Given the description of an element on the screen output the (x, y) to click on. 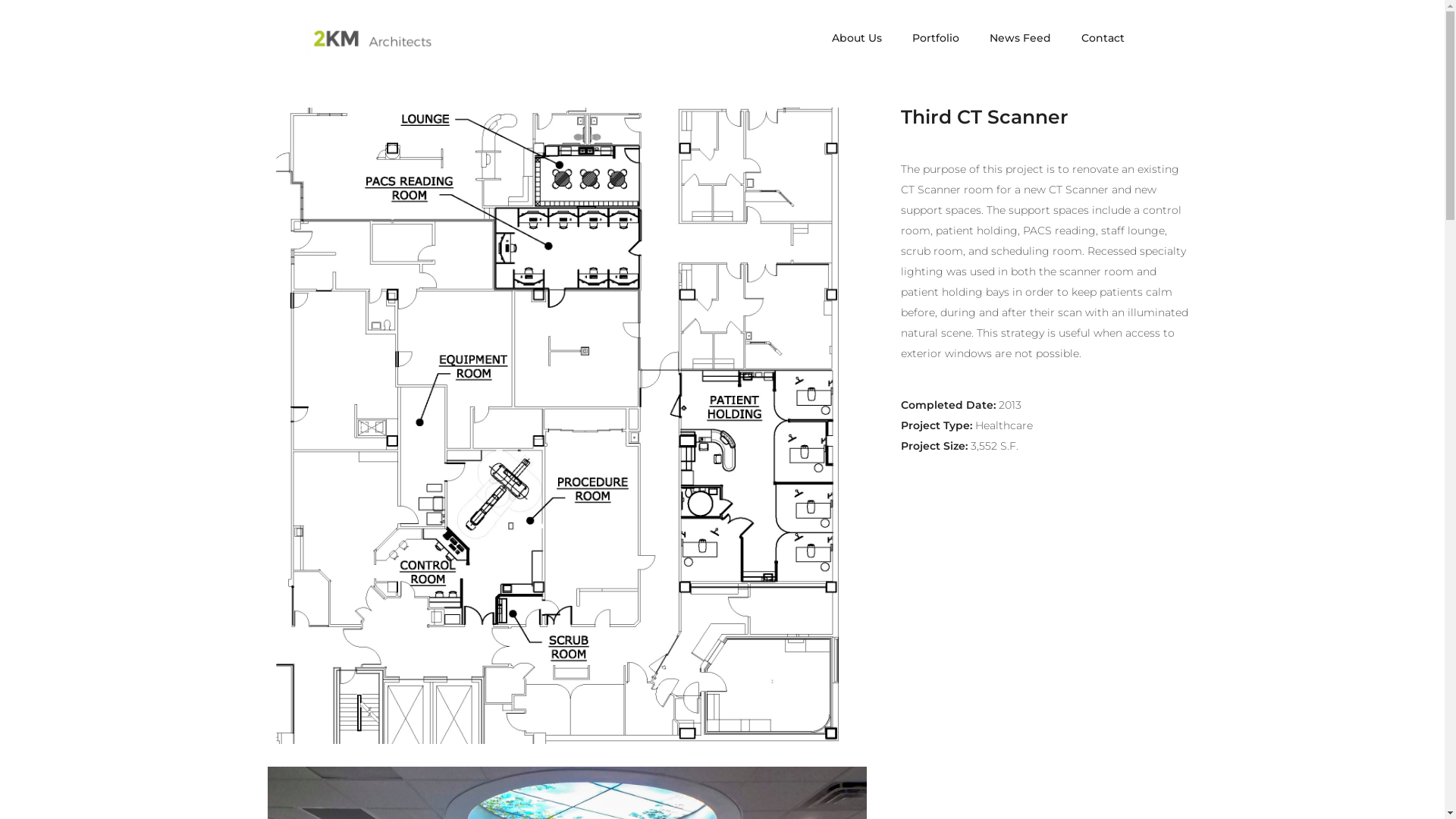
1 Element type: hover (566, 424)
About Us Element type: text (855, 37)
News Feed Element type: text (1019, 37)
Contact Element type: text (1102, 37)
Portfolio Element type: text (934, 37)
